Given the description of an element on the screen output the (x, y) to click on. 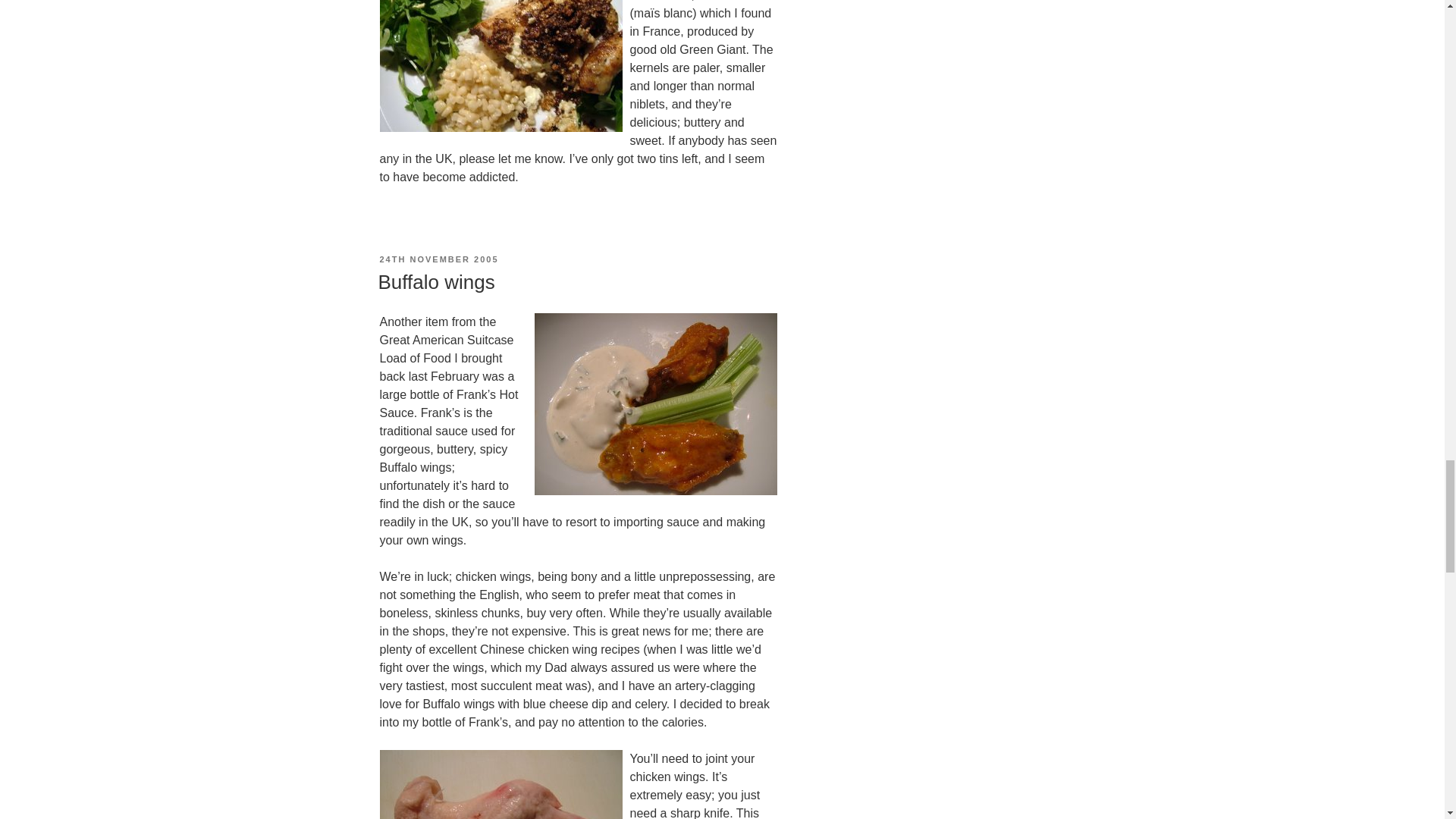
Buffalo wings (436, 282)
24TH NOVEMBER 2005 (437, 258)
